Given the description of an element on the screen output the (x, y) to click on. 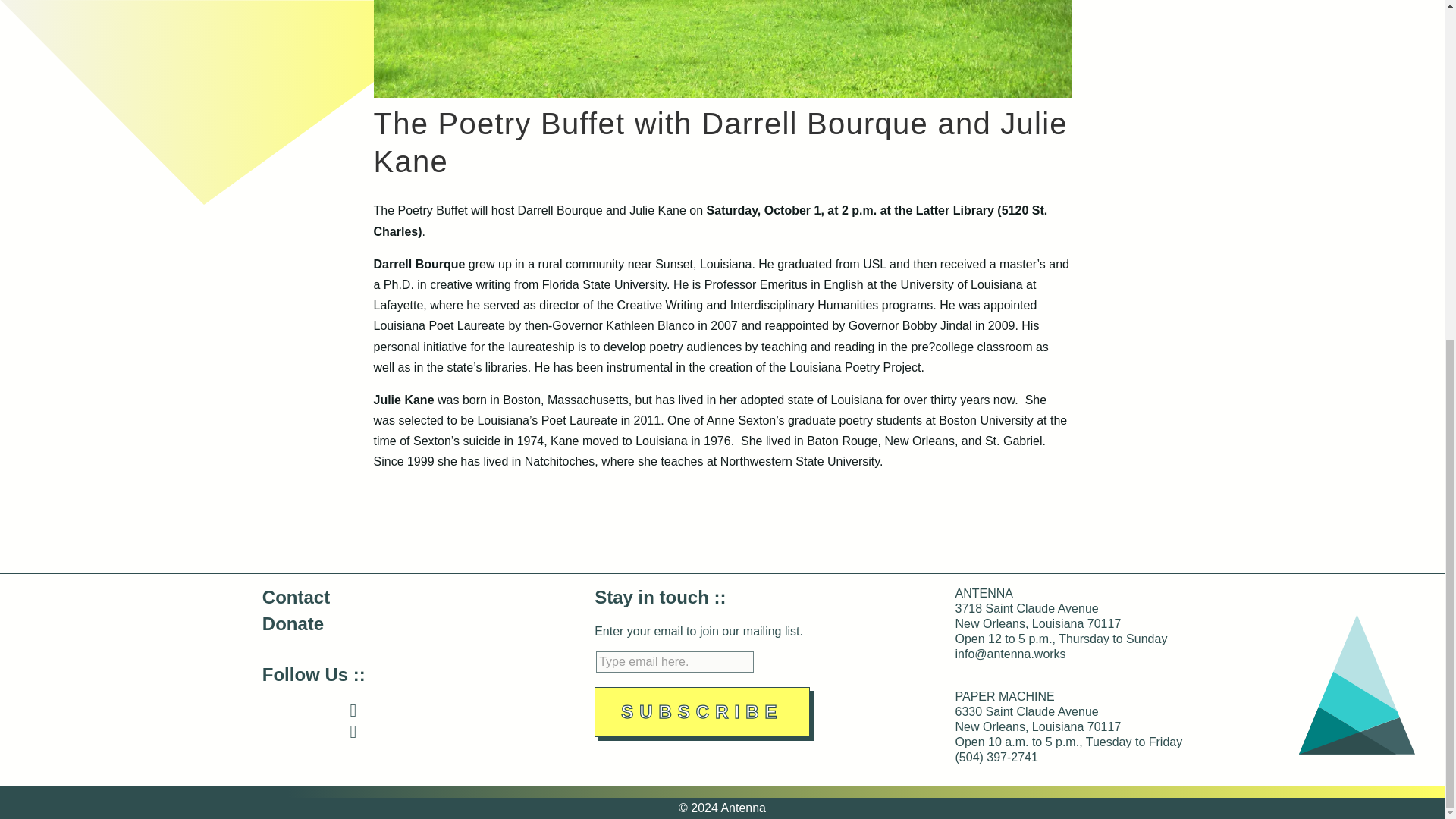
Subscribe (701, 712)
Contact (296, 597)
Subscribe (701, 712)
Donate (292, 623)
The Poetry Buffet with Darrell Bourque and Julie Kane (721, 92)
